Given the description of an element on the screen output the (x, y) to click on. 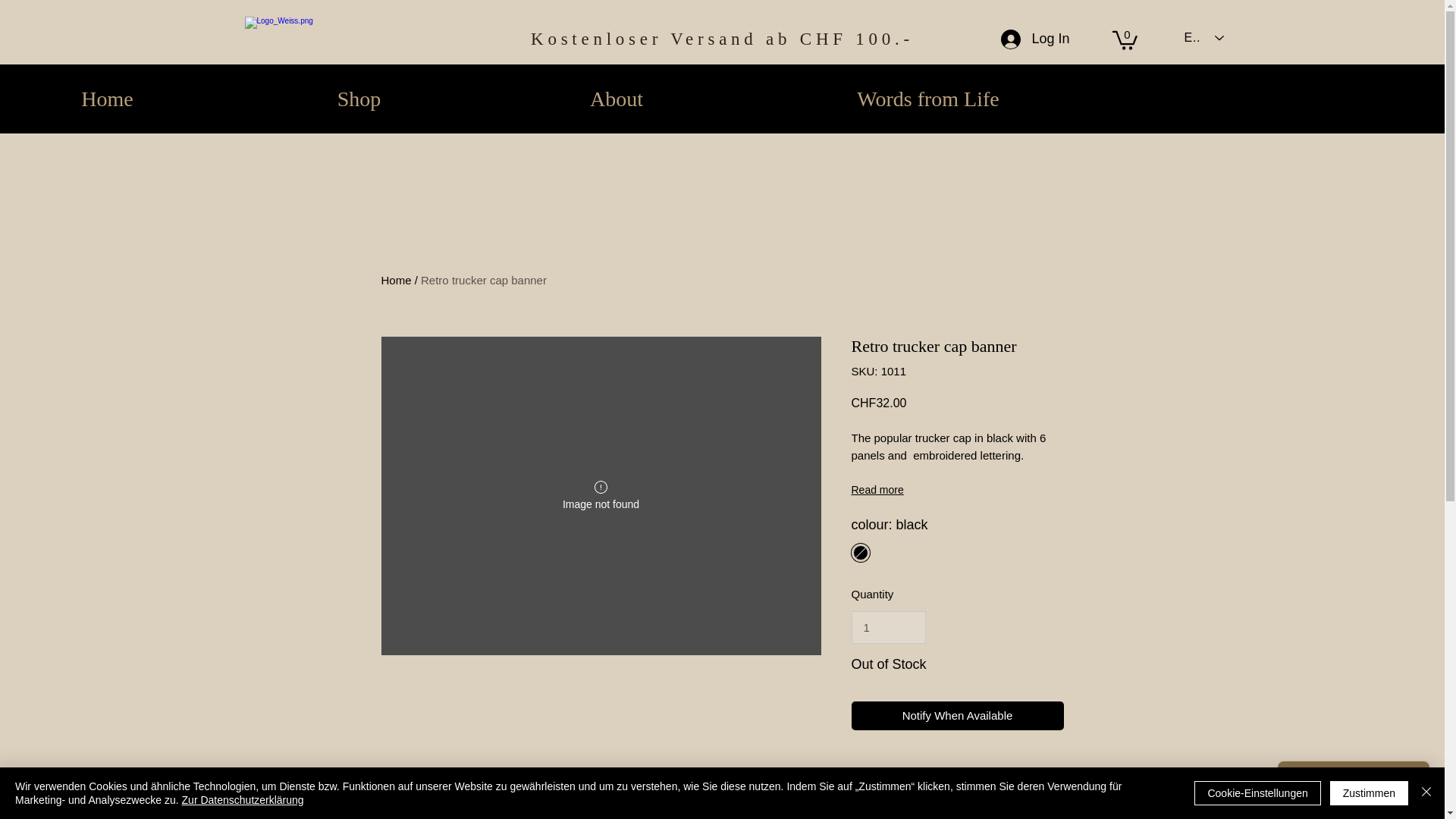
Retro trucker cap banner (483, 279)
0 (1124, 38)
Zustimmen (1368, 793)
Notify When Available (956, 716)
Log In (1035, 39)
Home (395, 279)
Home (116, 99)
About (616, 99)
Read more (956, 489)
1 (887, 627)
0 (1124, 38)
Shop (358, 99)
Cookie-Einstellungen (1256, 793)
Words from Life (928, 99)
